Given the description of an element on the screen output the (x, y) to click on. 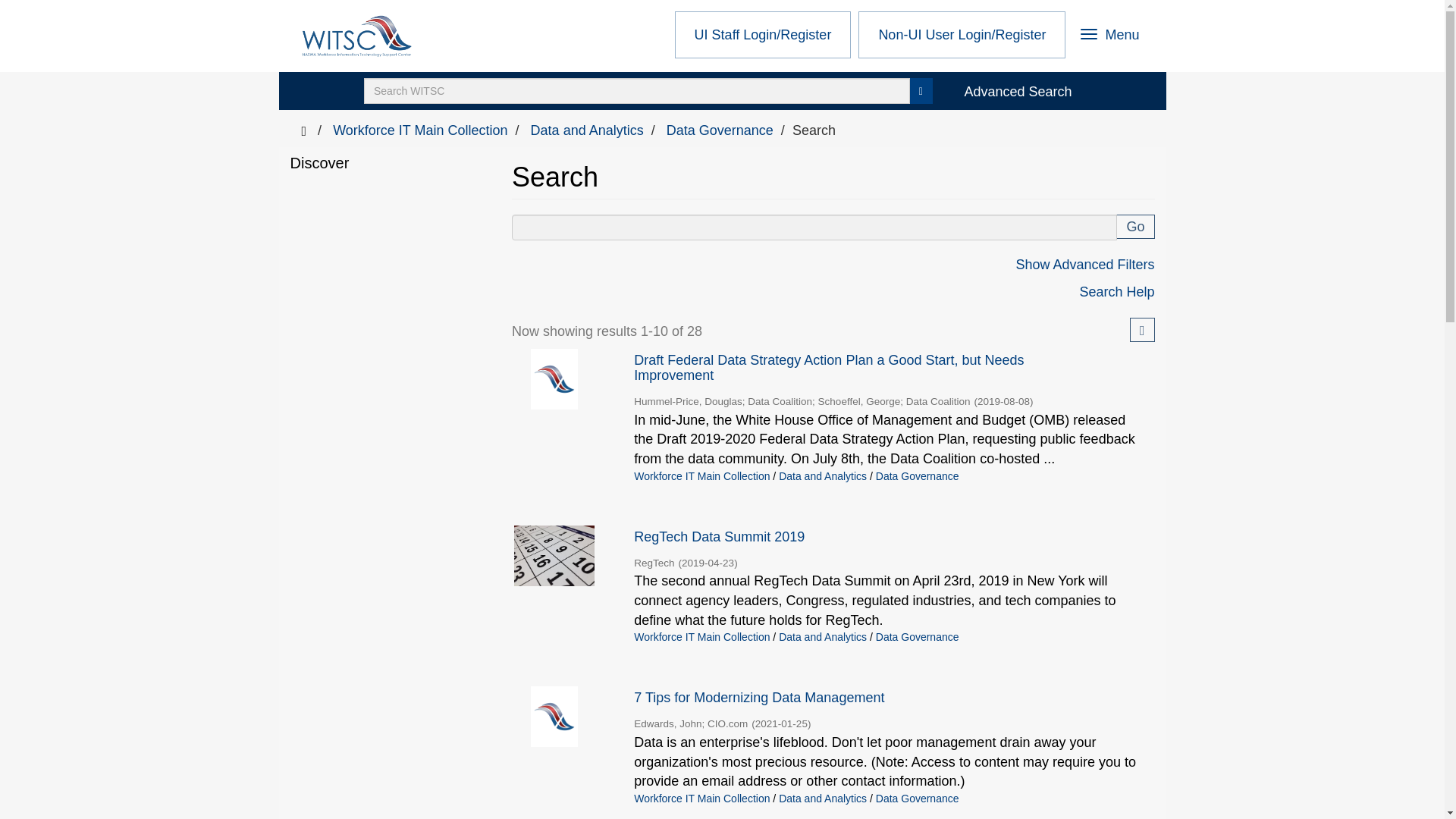
search (1109, 35)
Go (637, 90)
form (920, 90)
form (1135, 226)
